Given the description of an element on the screen output the (x, y) to click on. 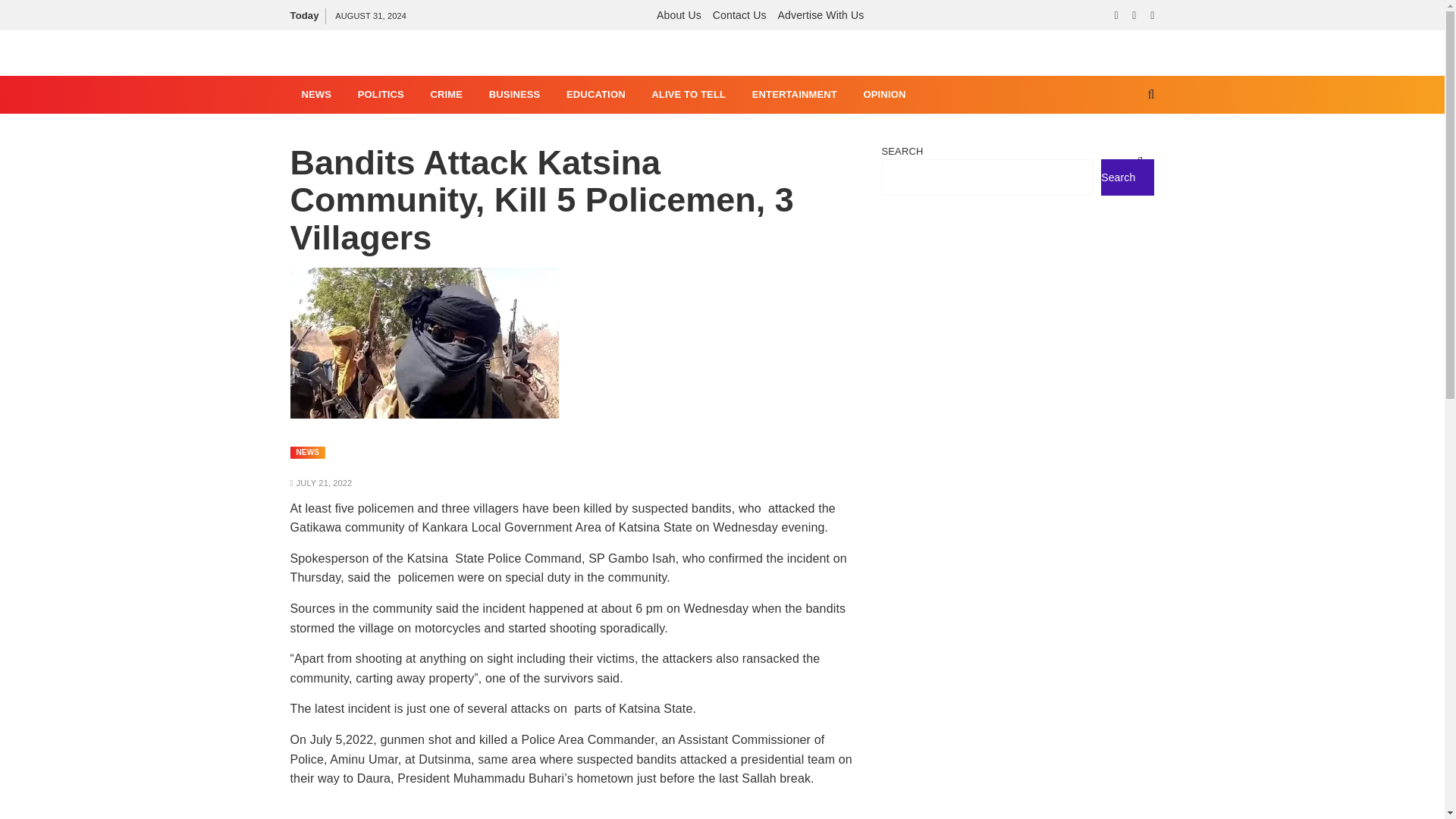
OPINION (884, 94)
NEWS (315, 94)
Advertise With Us (820, 15)
ALIVE TO TELL (688, 94)
ENTERTAINMENT (794, 94)
NEWS (306, 452)
EDUCATION (595, 94)
POLITICS (380, 94)
Search (1104, 162)
BUSINESS (514, 94)
